Given the description of an element on the screen output the (x, y) to click on. 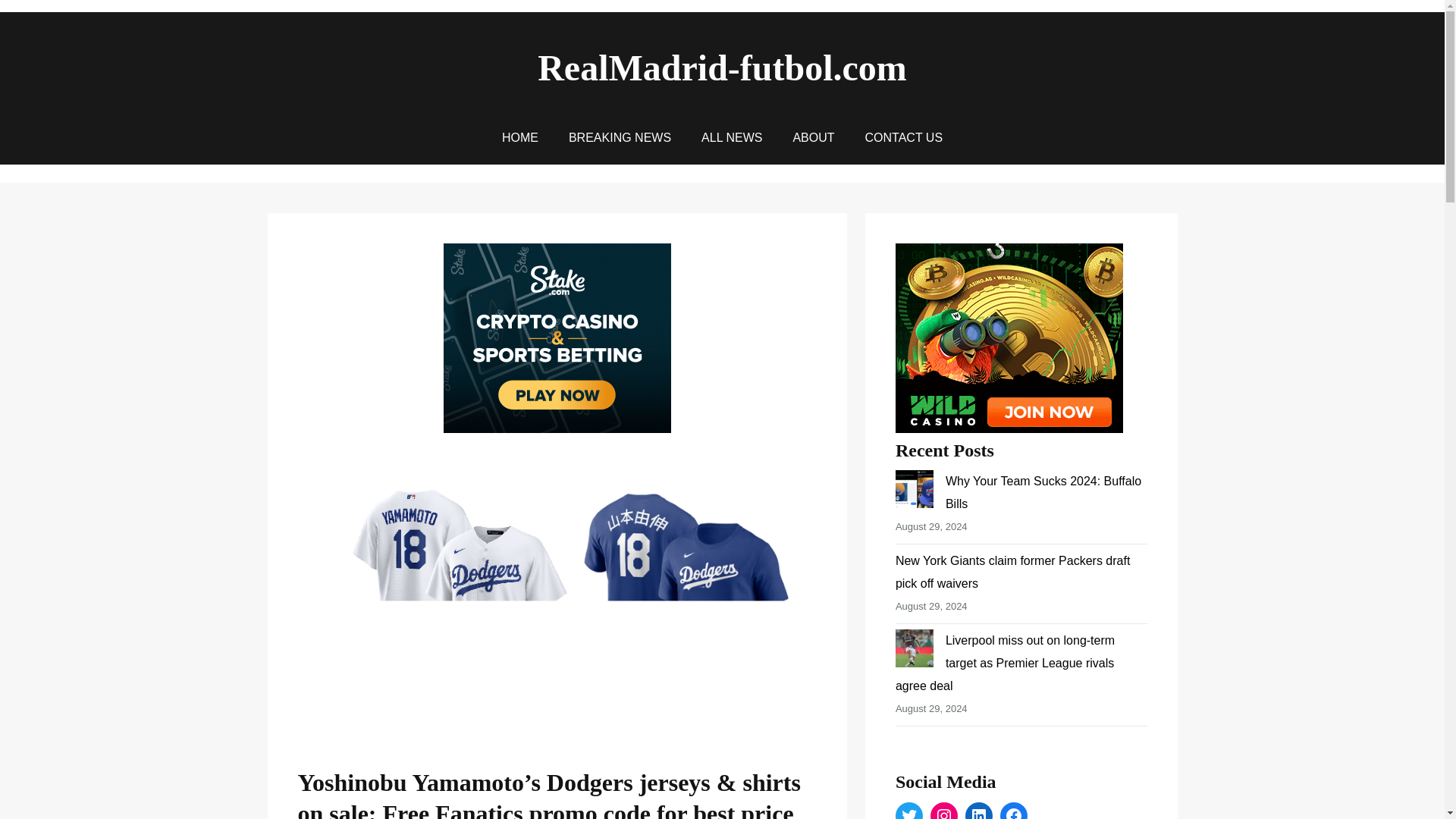
BREAKING NEWS (620, 137)
Instagram (944, 810)
ABOUT (813, 137)
Facebook (1013, 810)
CONTACT US (903, 137)
RealMadrid-futbol.com (722, 67)
LinkedIn (978, 810)
Twitter (909, 810)
New York Giants claim former Packers draft pick off waivers (1012, 571)
